Given the description of an element on the screen output the (x, y) to click on. 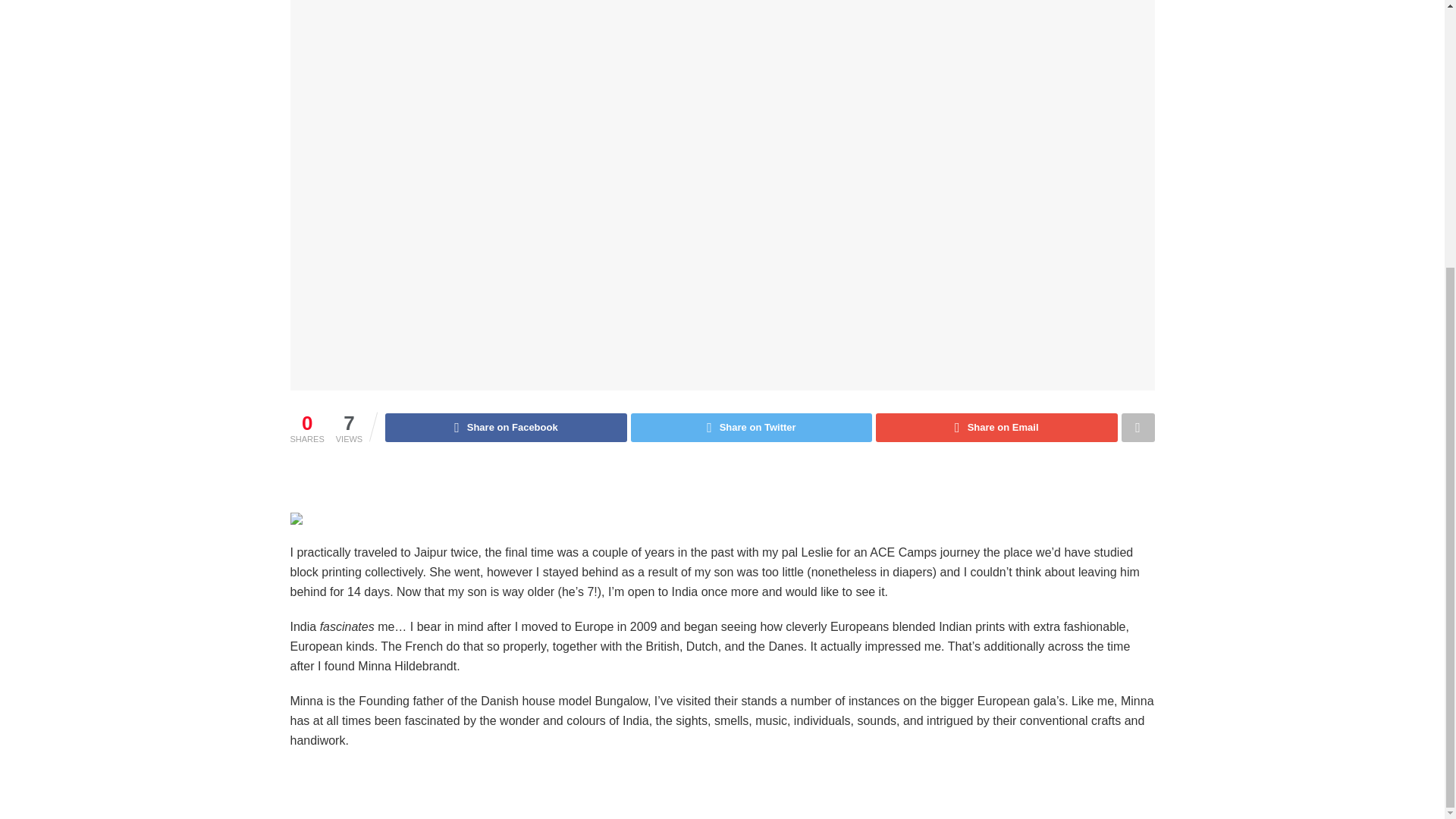
Share on Twitter (751, 427)
Share on Email (996, 427)
Share on Facebook (505, 427)
